Given the description of an element on the screen output the (x, y) to click on. 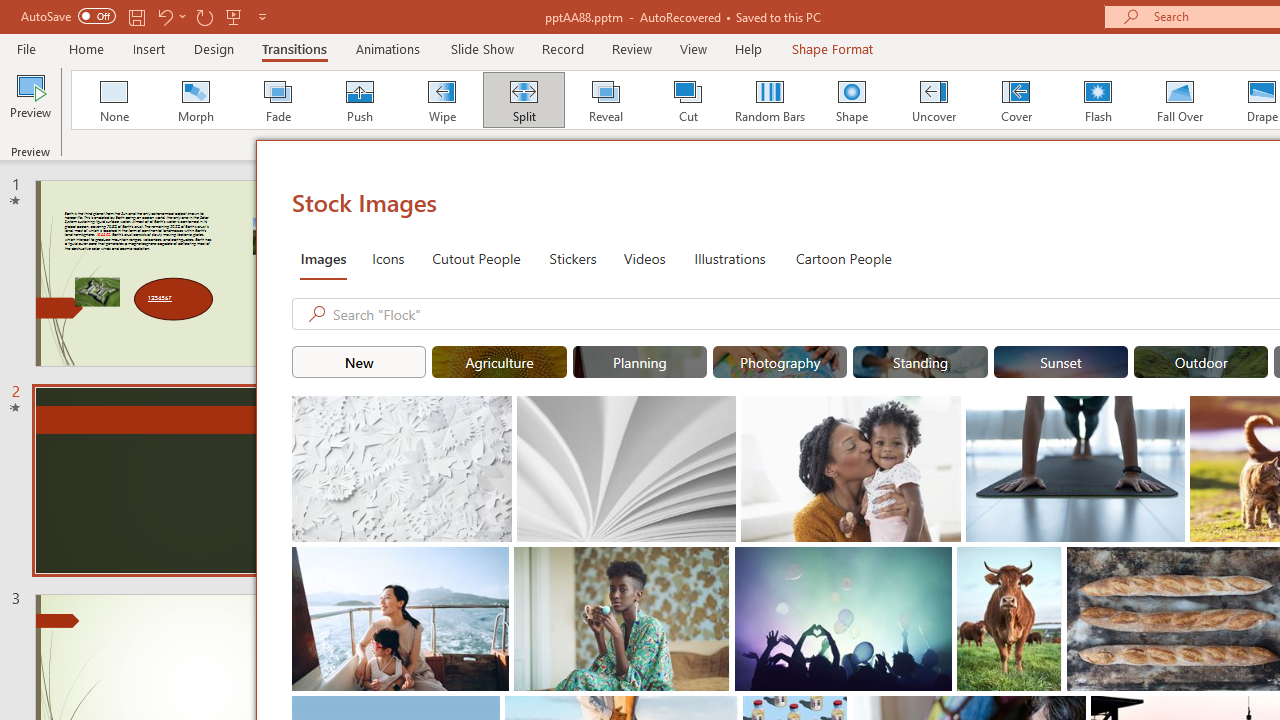
AutoSave (68, 16)
"Photography" Stock Images. (779, 362)
"Planning" Stock Images. (639, 362)
Illustrations (729, 258)
Cover (1016, 100)
Shape (852, 100)
Wipe (441, 100)
Quick Access Toolbar (145, 16)
Animations (388, 48)
Save (136, 15)
Reveal (605, 100)
